Given the description of an element on the screen output the (x, y) to click on. 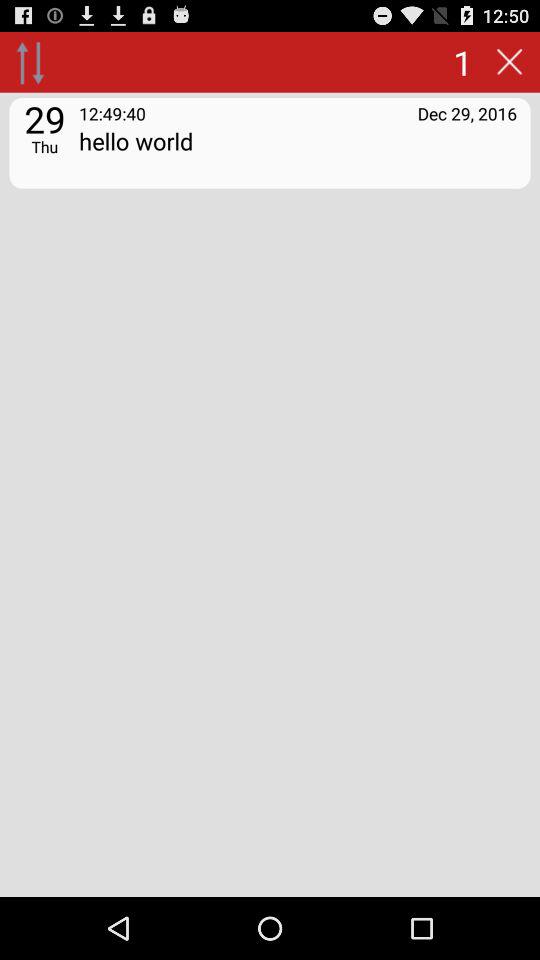
choose dec 29, 2016 (467, 112)
